Given the description of an element on the screen output the (x, y) to click on. 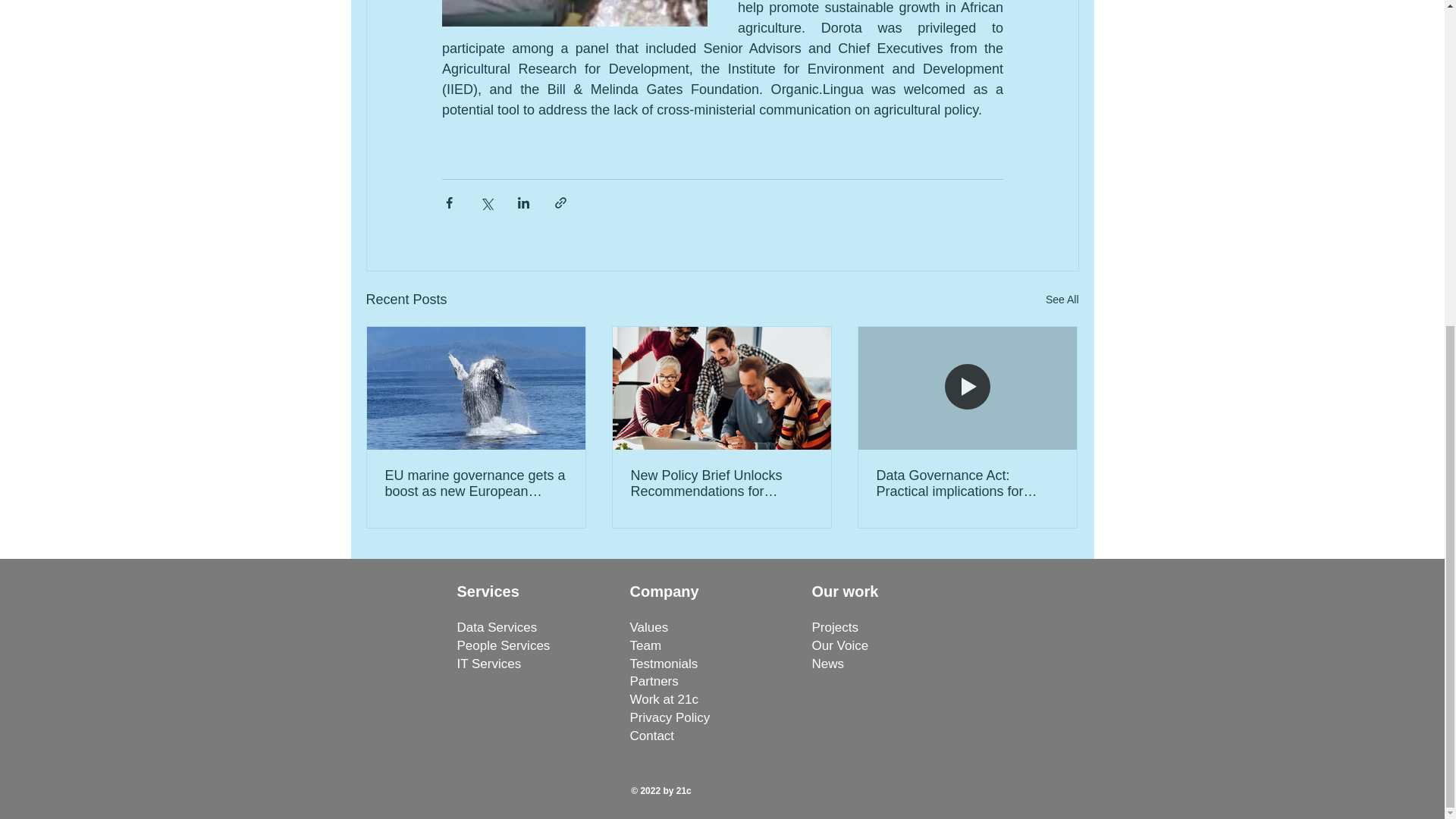
See All (1061, 300)
Data Services (497, 626)
Testmonials (662, 663)
Privacy Policy (669, 717)
Our Voice (838, 645)
Team (644, 645)
IT Services (489, 663)
Partners (653, 681)
Work at 21c (662, 699)
People Services (503, 645)
Contact (651, 735)
Values (648, 626)
